Given the description of an element on the screen output the (x, y) to click on. 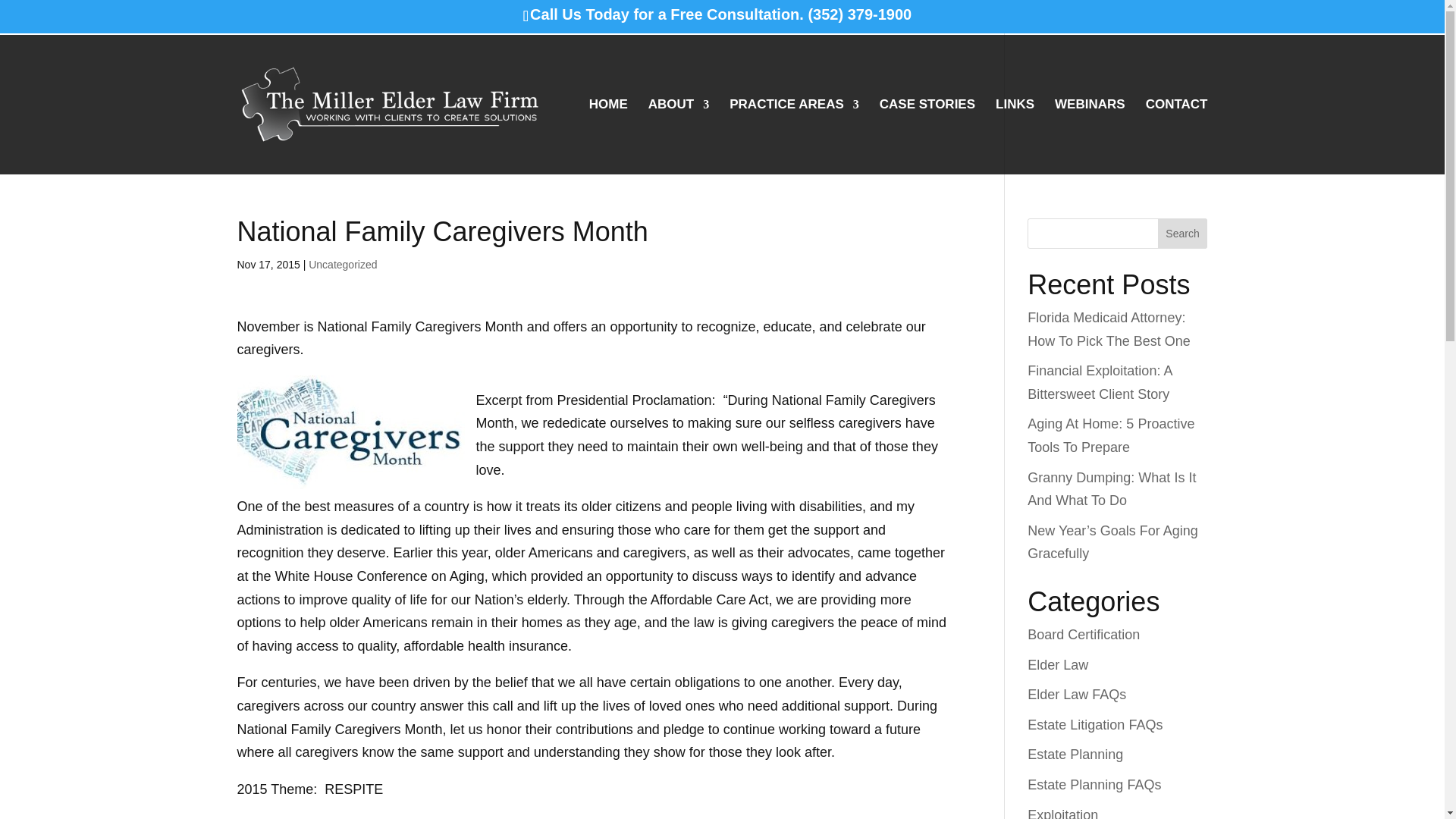
PRACTICE AREAS (794, 136)
CASE STORIES (927, 136)
WEBINARS (1089, 136)
Search (1182, 233)
